Given the description of an element on the screen output the (x, y) to click on. 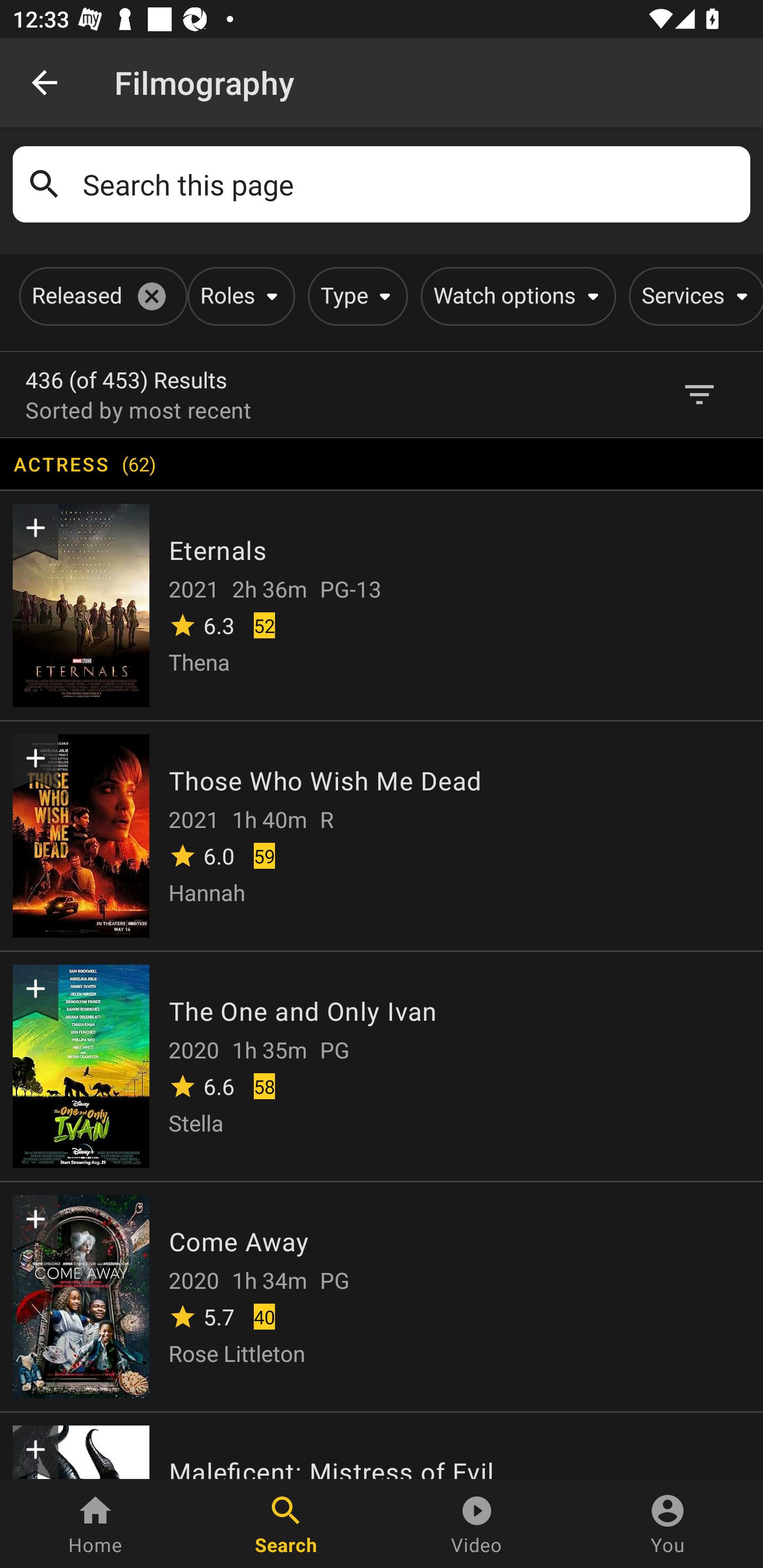
Search this page (410, 184)
Released (100, 296)
Roles (237, 296)
Type (354, 296)
Watch options (514, 296)
Services (693, 296)
Eternals 2021 2h 36m PG-13 6.3 52 Thena (381, 604)
Those Who Wish Me Dead 2021 1h 40m R 6.0 59 Hannah (381, 834)
The One and Only Ivan 2020 1h 35m PG 6.6 58 Stella (381, 1065)
Come Away 2020 1h 34m PG 5.7 40 Rose Littleton (381, 1295)
Home (95, 1523)
Video (476, 1523)
You (667, 1523)
